Given the description of an element on the screen output the (x, y) to click on. 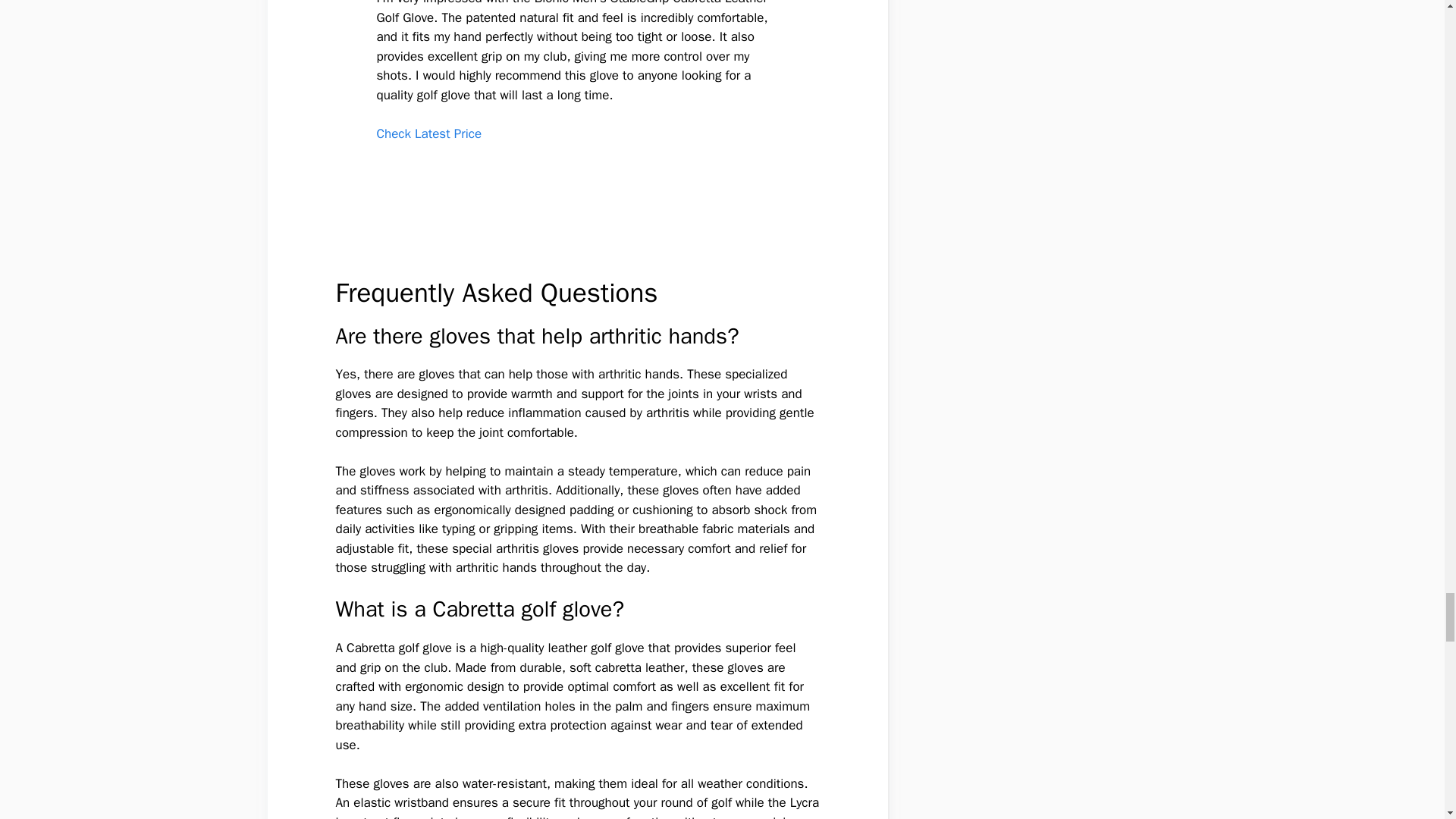
Check Latest Price (428, 133)
